Given the description of an element on the screen output the (x, y) to click on. 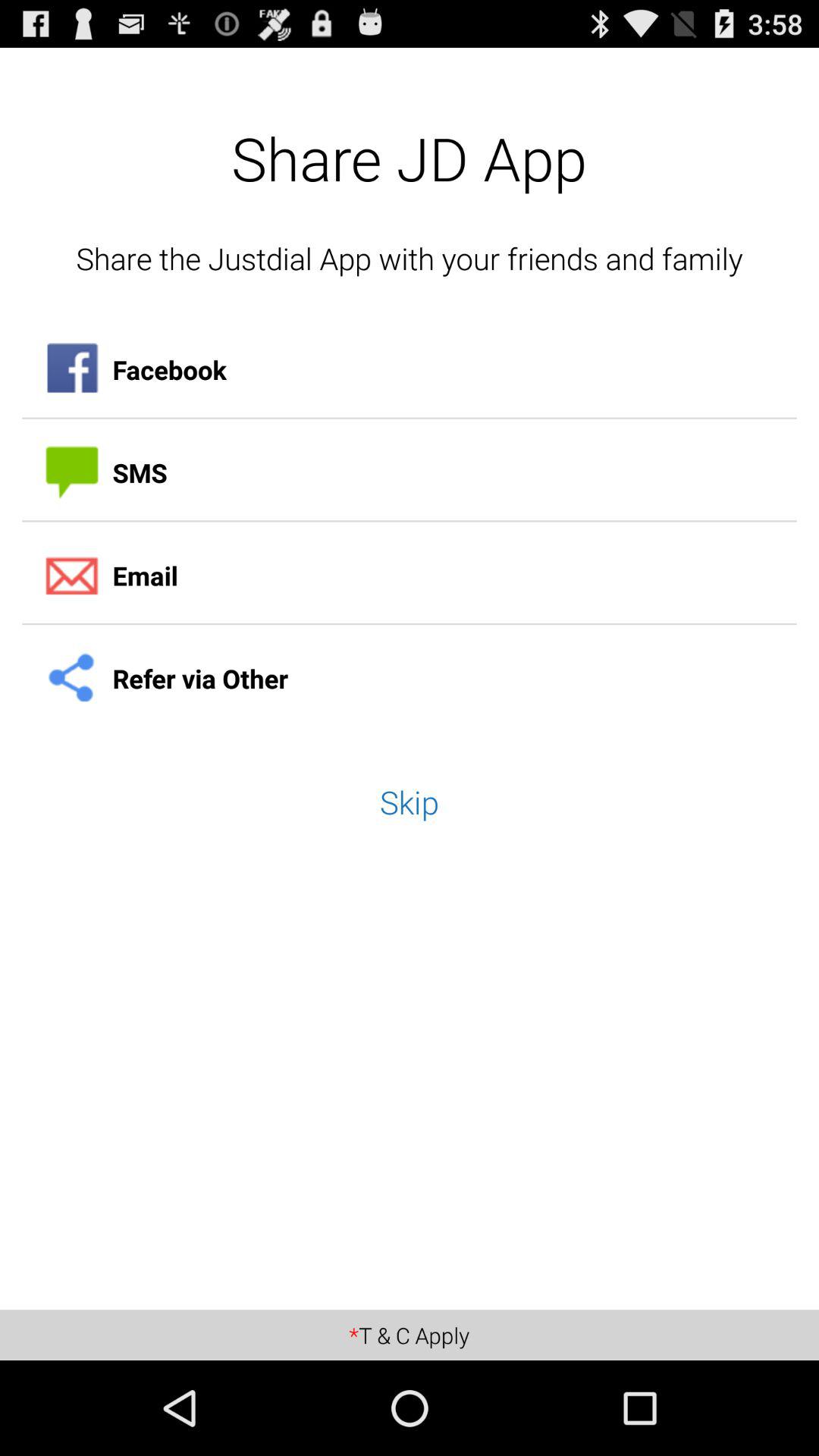
turn off the app above the skip app (409, 678)
